Given the description of an element on the screen output the (x, y) to click on. 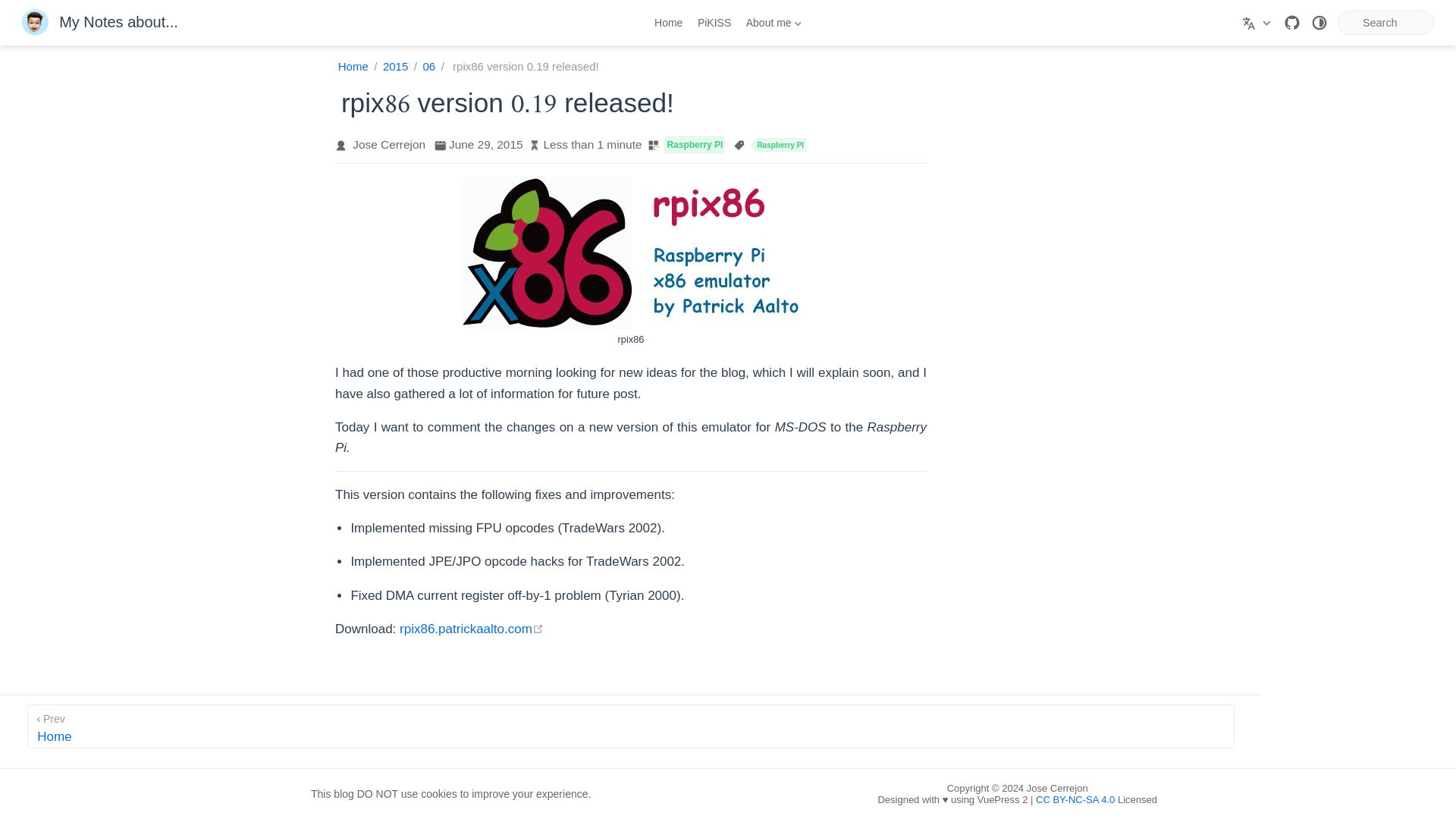
Home (354, 67)
rpix86 version 0.19 released! (521, 67)
PiKISS (630, 726)
My Notes about... (712, 22)
2015 (99, 22)
About me (395, 67)
CC BY-NC-SA 4.0 (772, 22)
06 (1075, 799)
Home (470, 628)
Skip to main content (428, 67)
